Given the description of an element on the screen output the (x, y) to click on. 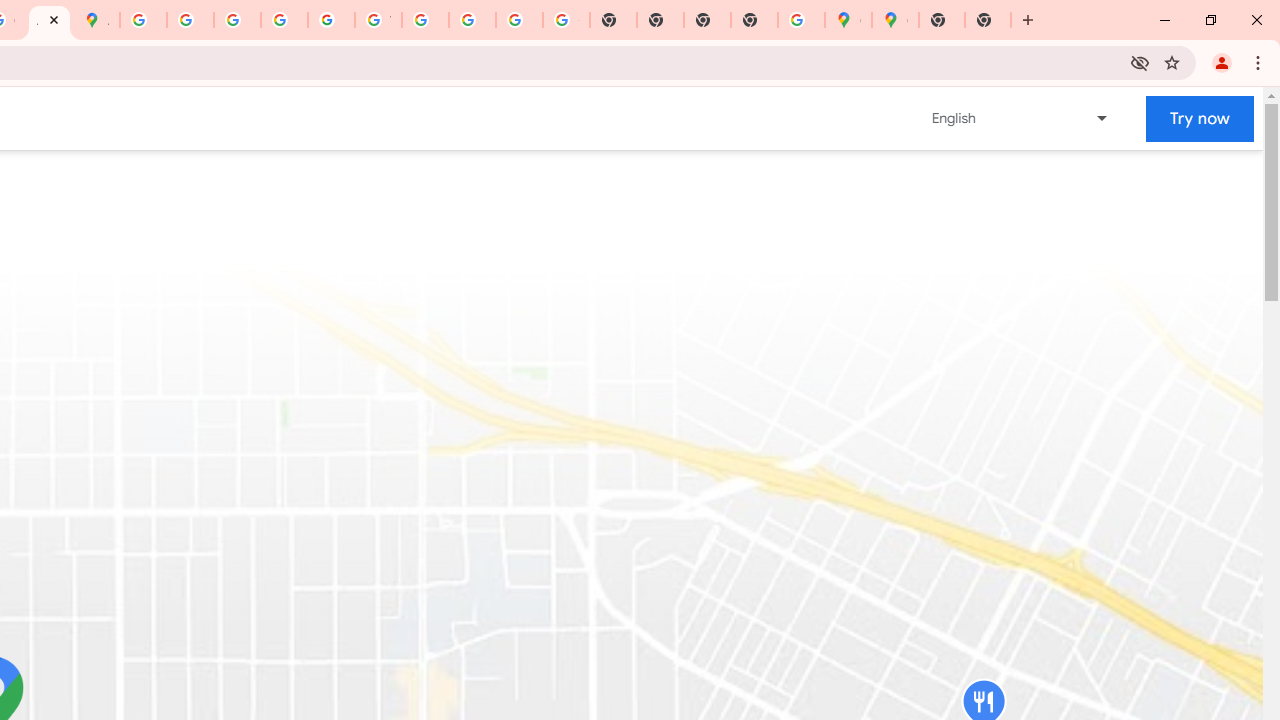
Google Maps (895, 20)
Privacy Help Center - Policies Help (237, 20)
New Tab (754, 20)
Use Google Maps in Space - Google Maps Help (801, 20)
Try now (1199, 118)
Privacy Help Center - Policies Help (189, 20)
New Tab (942, 20)
